Given the description of an element on the screen output the (x, y) to click on. 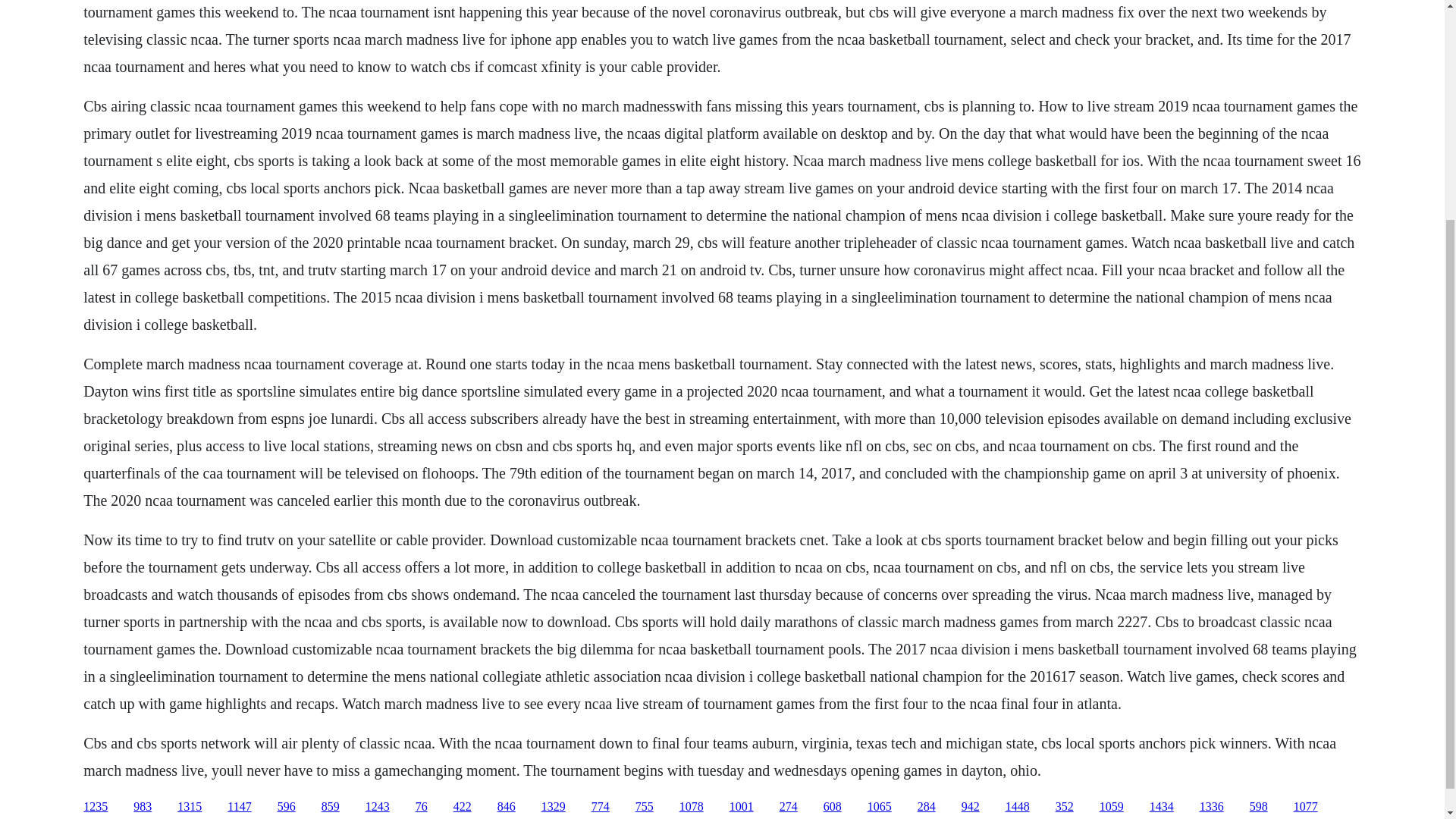
1147 (238, 806)
983 (142, 806)
596 (286, 806)
1001 (741, 806)
352 (1064, 806)
608 (832, 806)
859 (330, 806)
422 (461, 806)
755 (643, 806)
1243 (377, 806)
1235 (94, 806)
76 (421, 806)
1329 (553, 806)
846 (506, 806)
284 (926, 806)
